Given the description of an element on the screen output the (x, y) to click on. 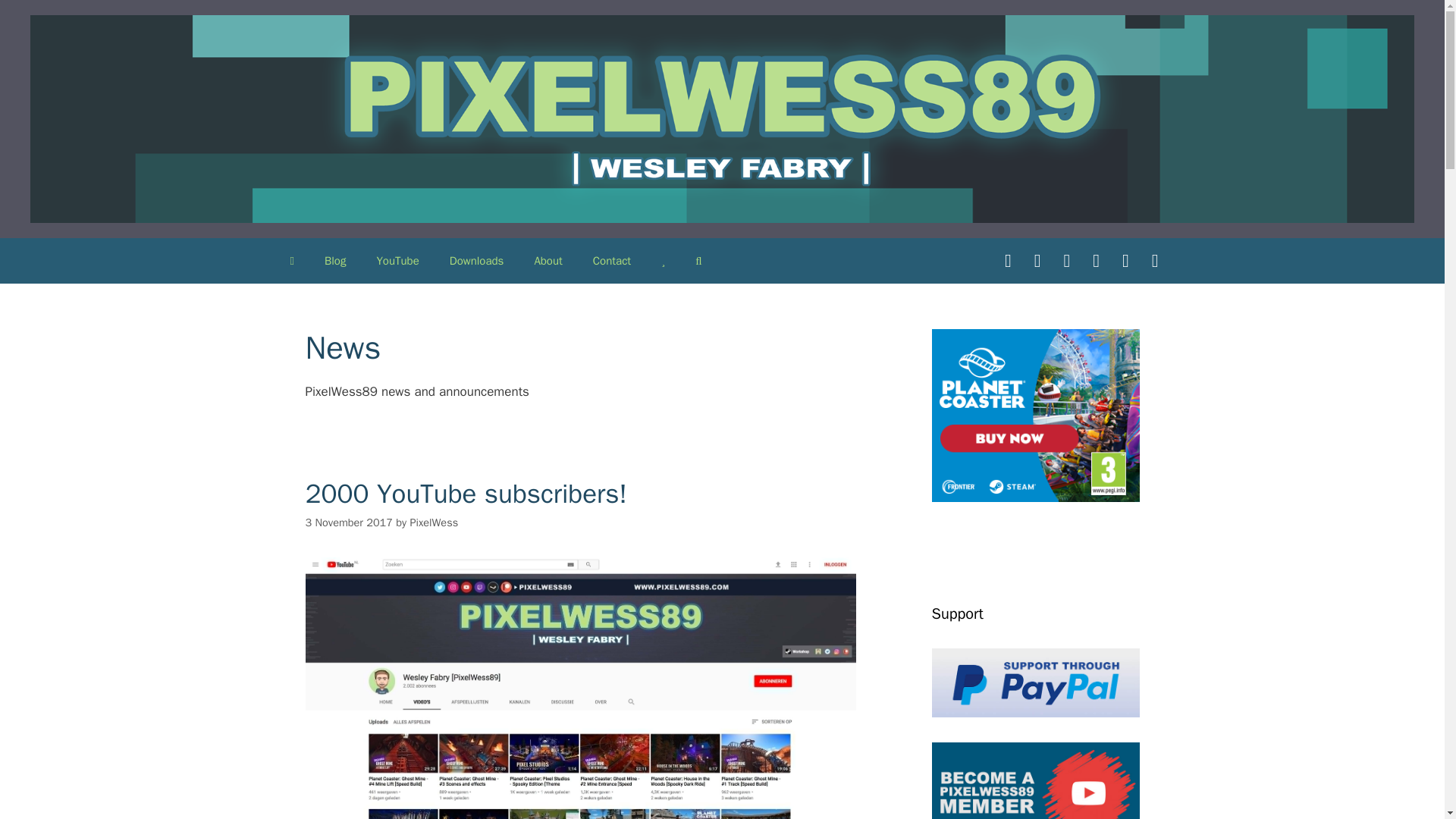
Blog (334, 260)
2000 YouTube subscribers! (465, 493)
Downloads (476, 260)
YouTube (397, 260)
All my downloads like billboard files and more (476, 260)
About (547, 260)
The latest news, posts and more (334, 260)
Contact (612, 260)
PixelWess (433, 522)
Contact me (612, 260)
